Given the description of an element on the screen output the (x, y) to click on. 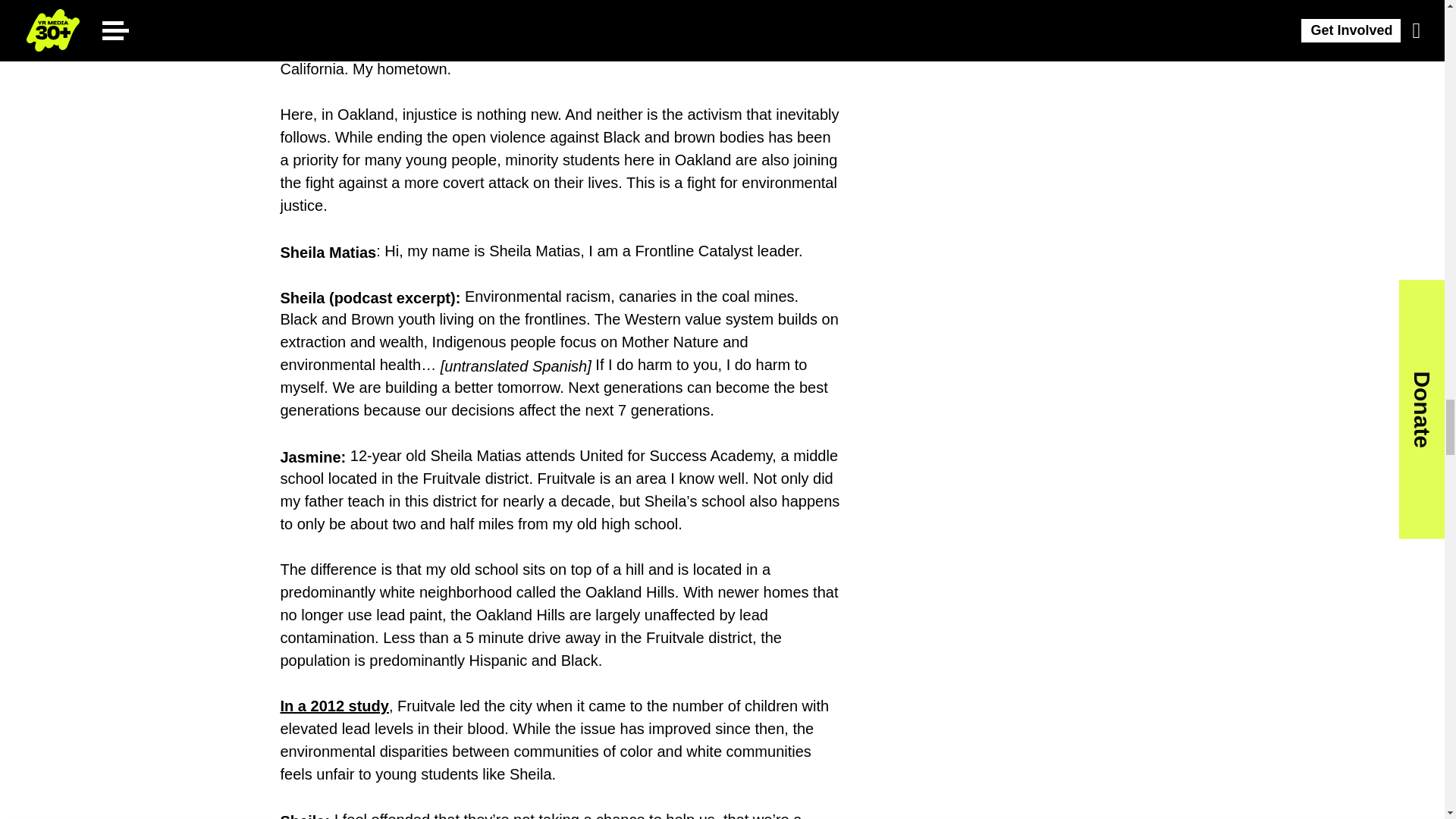
In a 2012 study (334, 705)
